Given the description of an element on the screen output the (x, y) to click on. 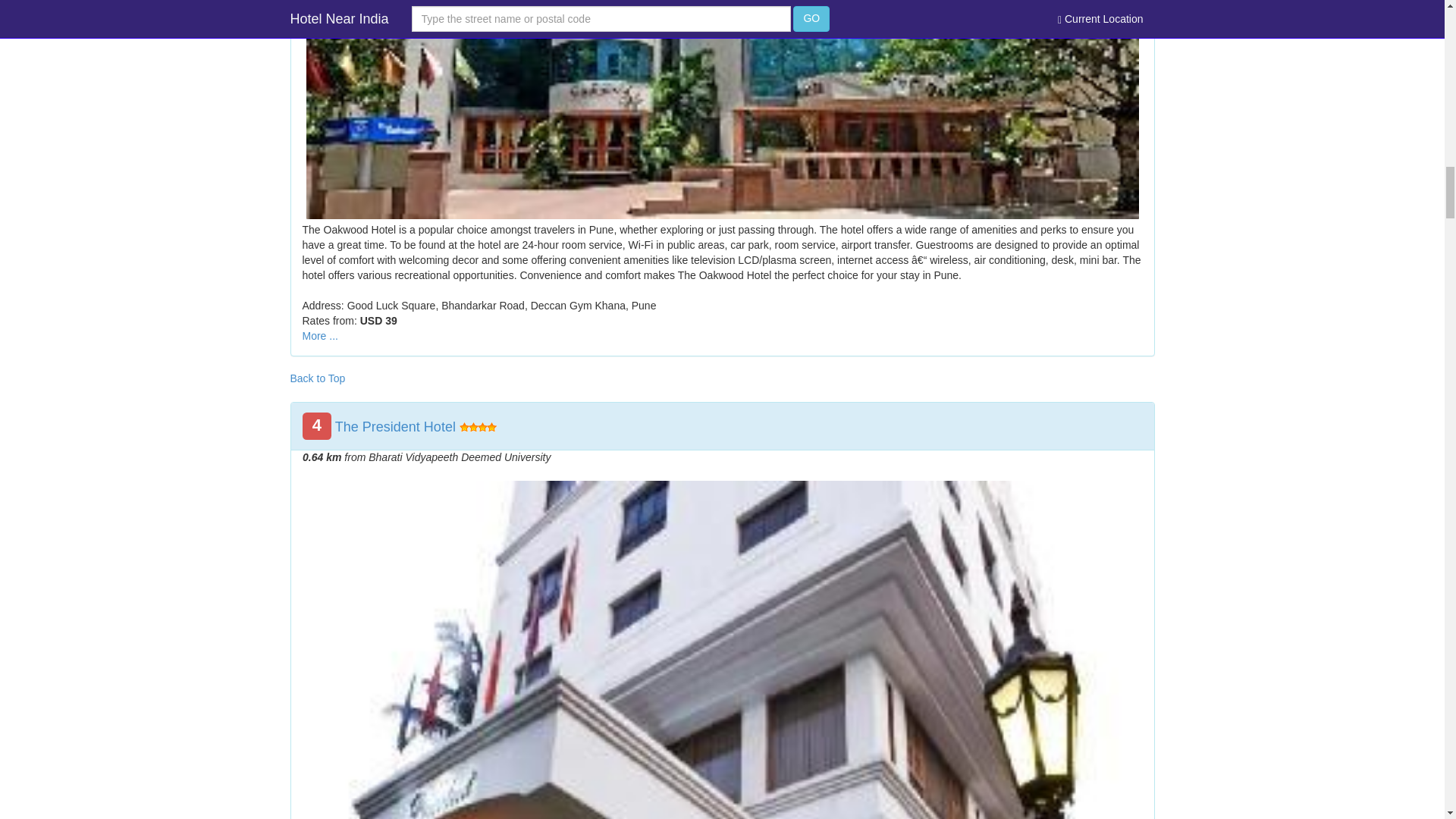
Back to Top (317, 378)
More ... (319, 336)
The President Hotel (394, 426)
